Given the description of an element on the screen output the (x, y) to click on. 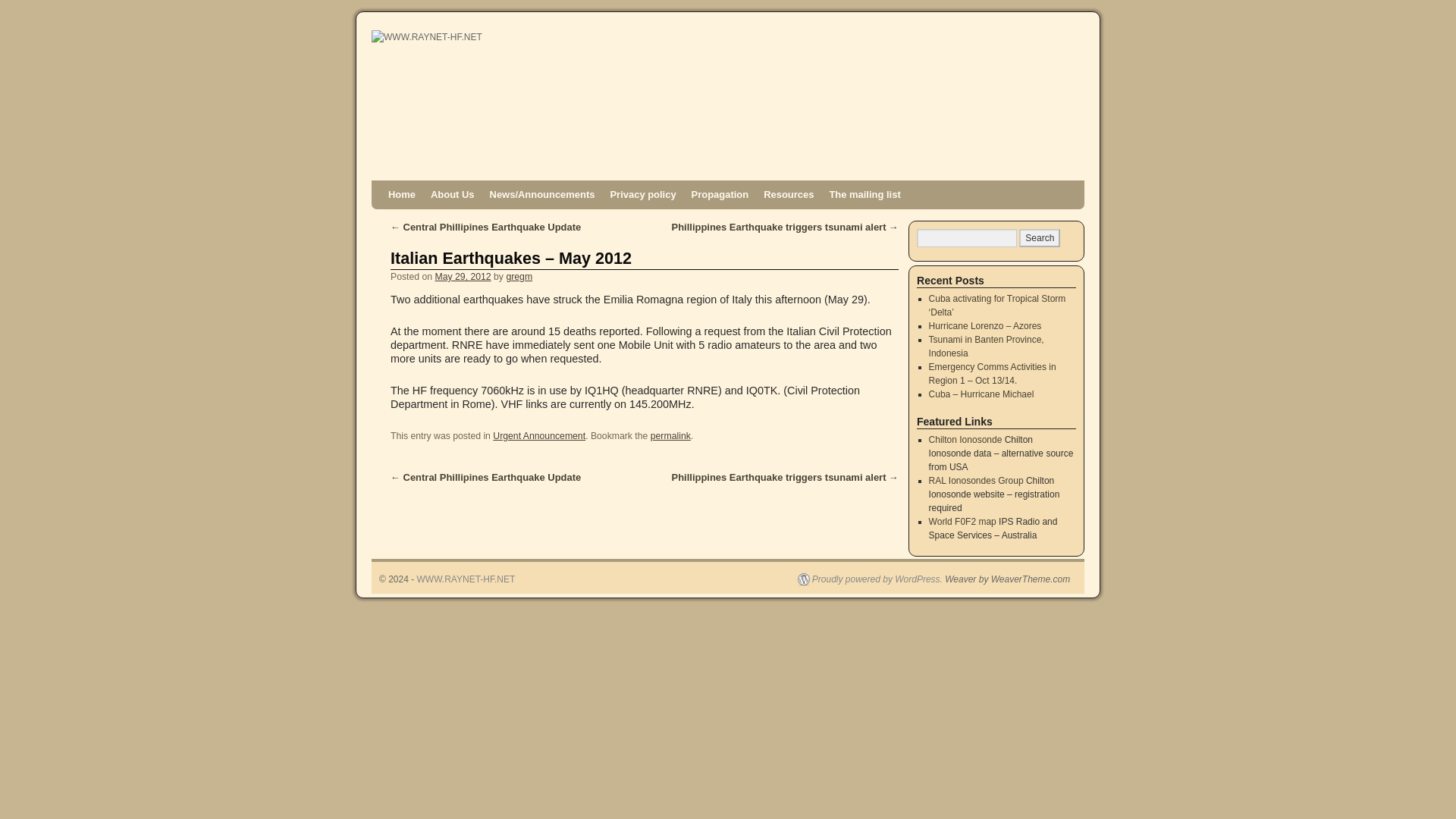
22:50 (463, 276)
Semantic Personal Publishing Platform (869, 579)
Home (401, 194)
May 29, 2012 (463, 276)
WWW.RAYNET-HF.NET (465, 579)
Privacy policy (642, 194)
Search (1039, 238)
About Us (452, 194)
The mailing list (864, 194)
Propagation (720, 194)
